Given the description of an element on the screen output the (x, y) to click on. 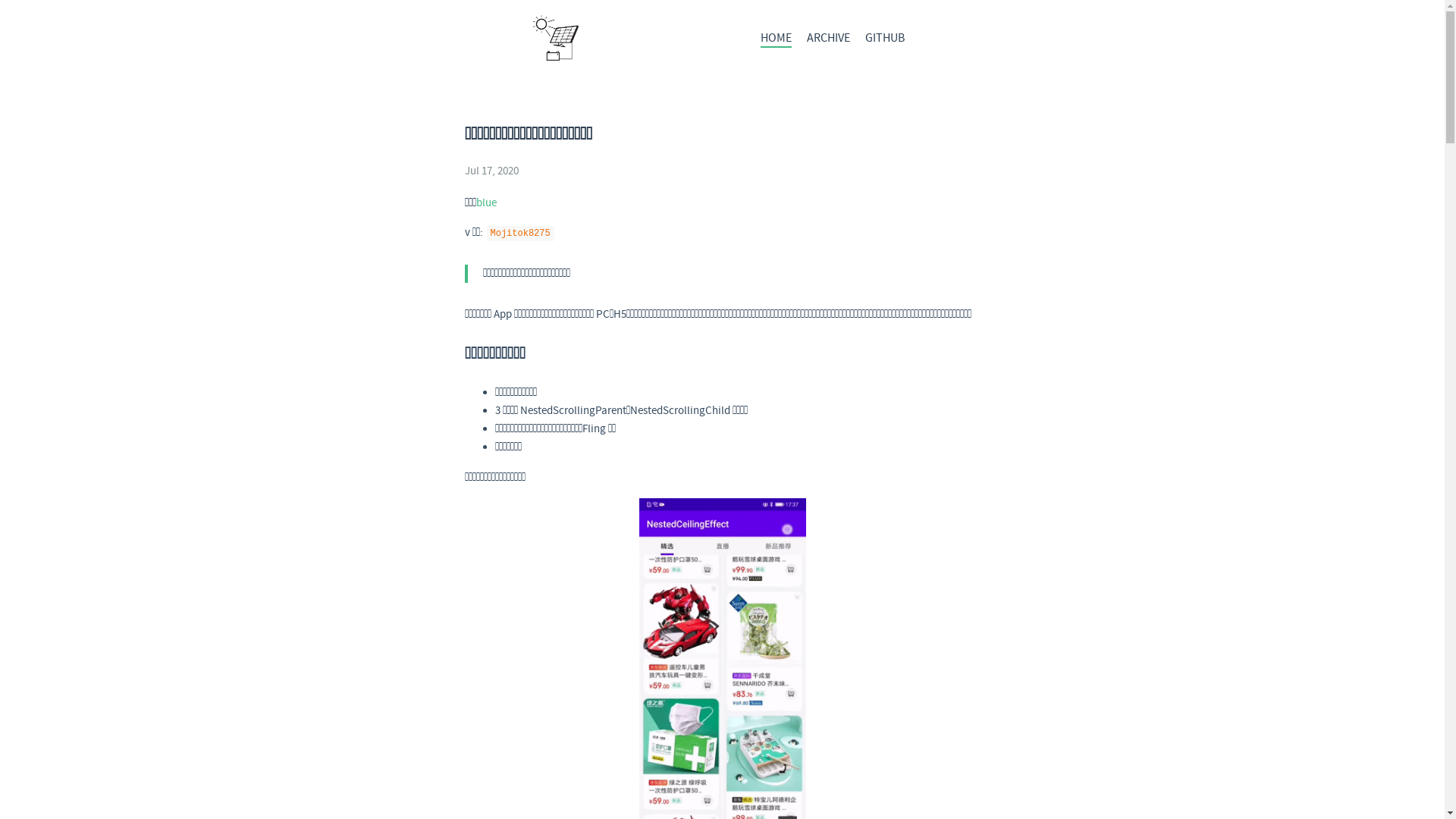
HOME Element type: text (774, 38)
GITHUB Element type: text (883, 38)
ARCHIVE Element type: text (828, 38)
blue Element type: text (486, 202)
